Given the description of an element on the screen output the (x, y) to click on. 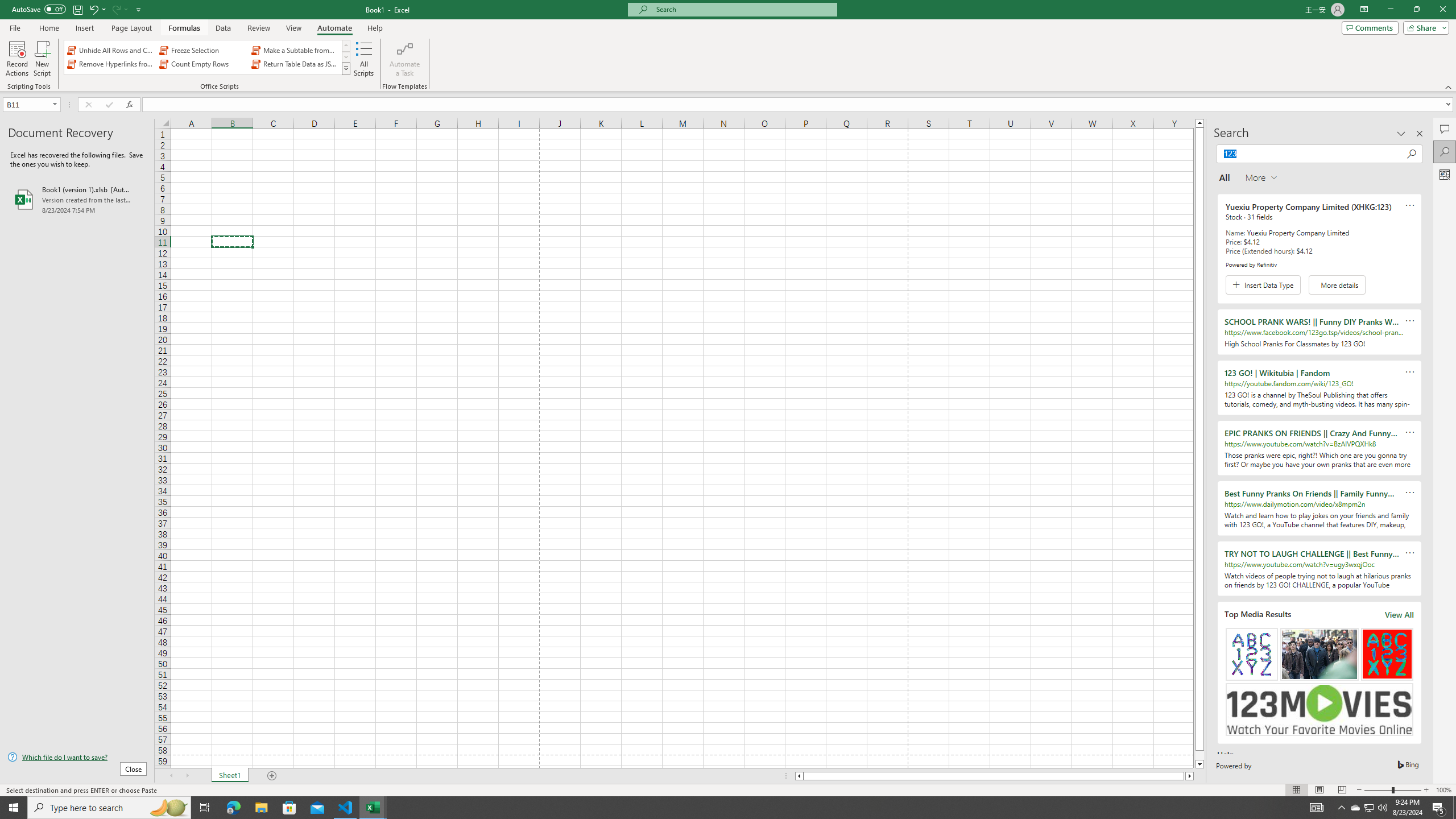
Remove Hyperlinks from Sheet (111, 64)
Unhide All Rows and Columns (111, 50)
Record Actions (17, 58)
